Given the description of an element on the screen output the (x, y) to click on. 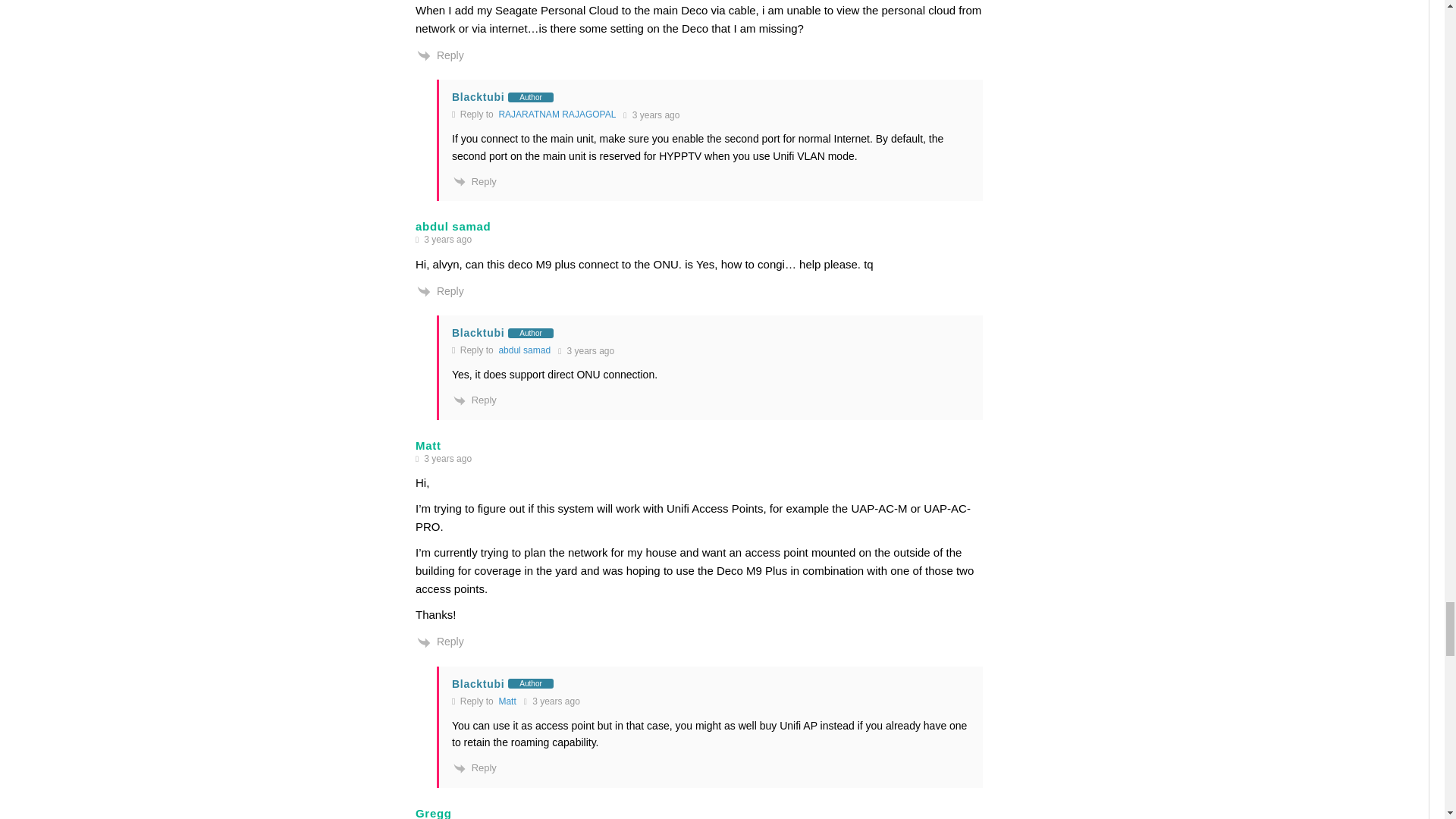
abdul samad (523, 349)
November 27, 2020 8:54 pm (651, 115)
RAJARATNAM RAJAGOPAL (556, 113)
Matt (506, 701)
